Given the description of an element on the screen output the (x, y) to click on. 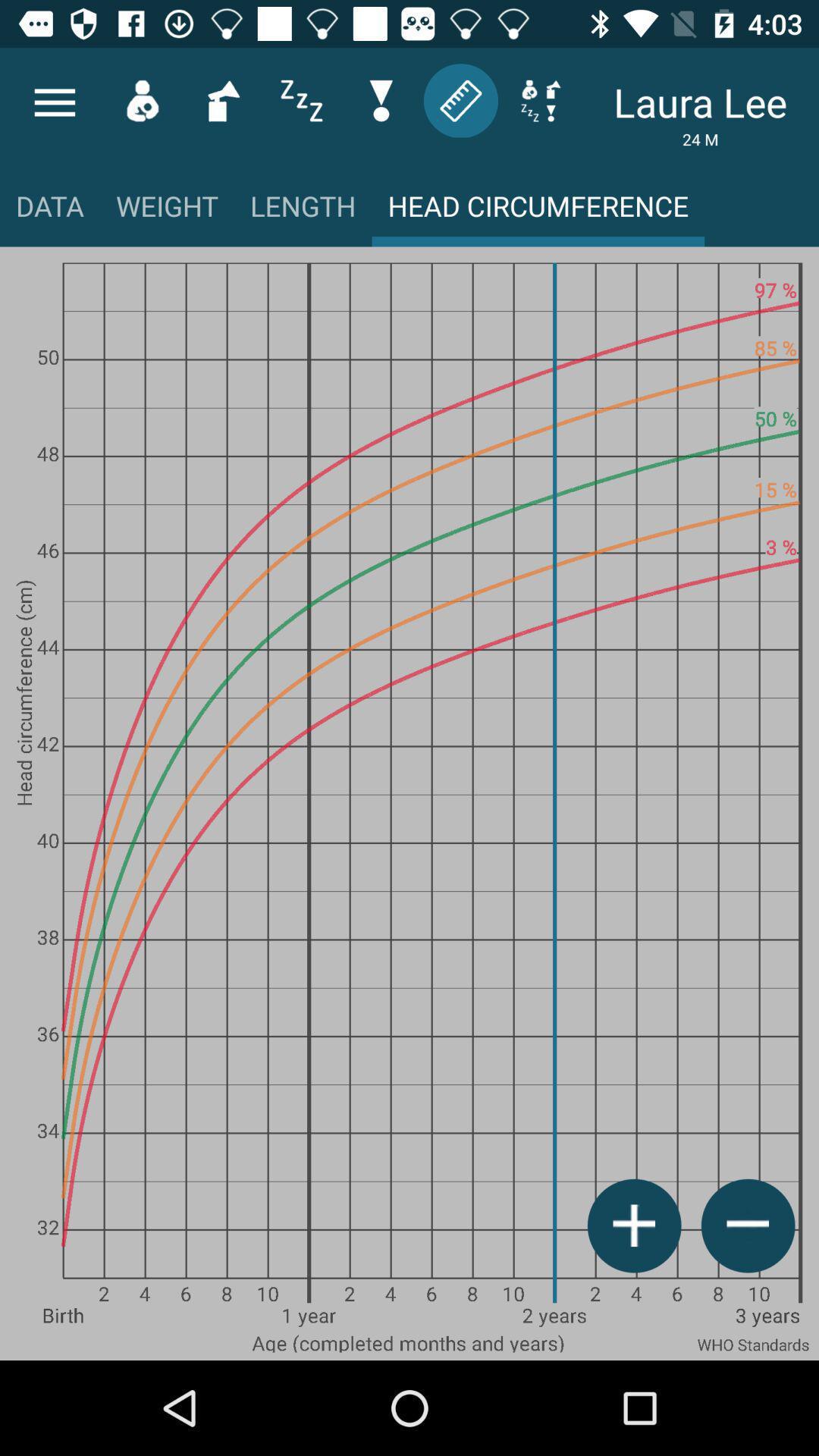
select the third symbol from left in the first row (222, 101)
click on the fourth button zzz which is above the text length (301, 101)
select the icon which is towards right side to the more  option (142, 101)
click on menu icon (54, 102)
select the text next to length (538, 211)
click on 6 th icon form menu button (460, 101)
select the minus icon right to plus icon (748, 1225)
